Given the description of an element on the screen output the (x, y) to click on. 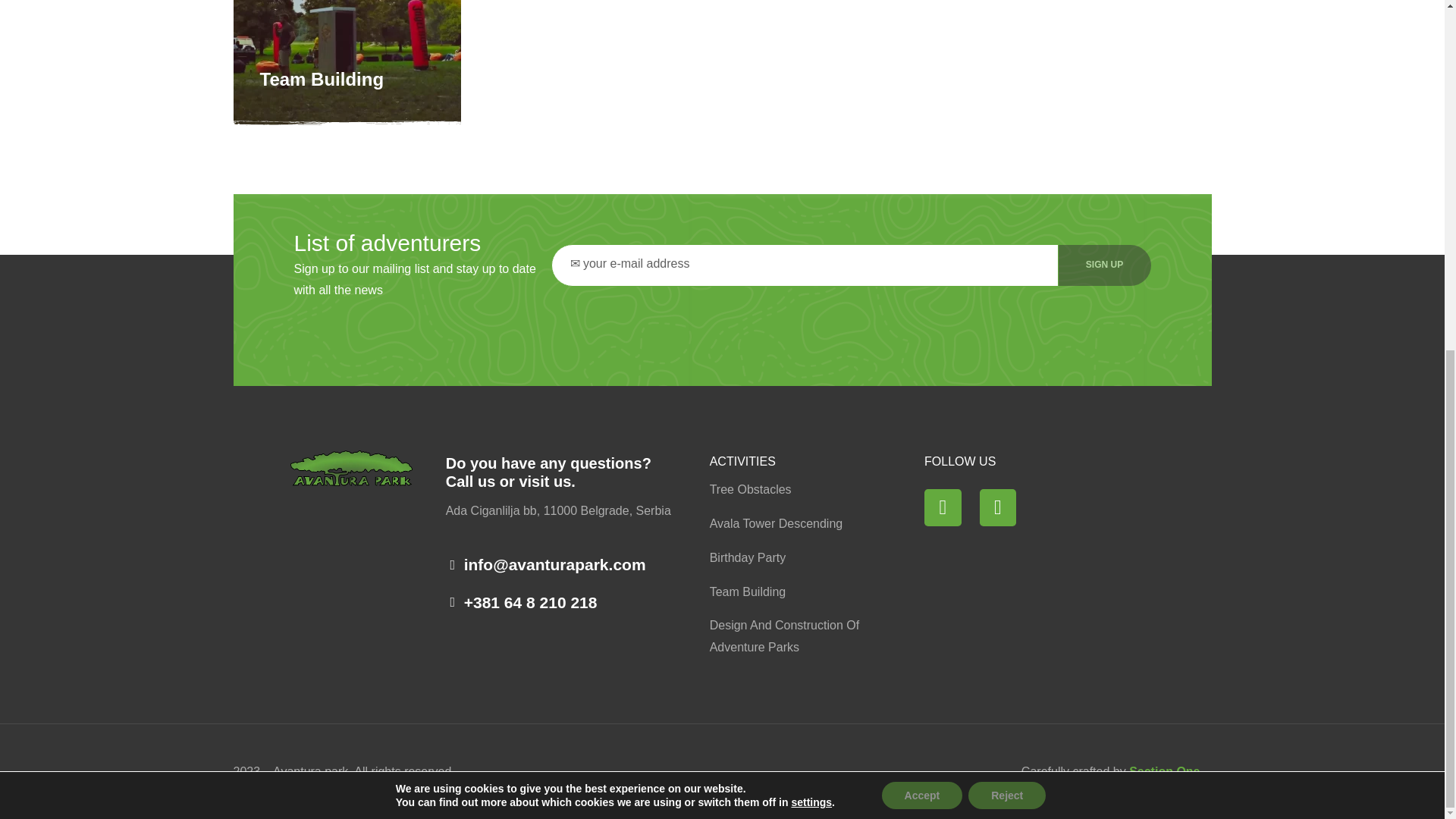
SIGN UP (1104, 264)
Team Building (796, 592)
Avala Tower Descending (796, 524)
Tree Obstacles (796, 490)
Design And Construction Of Adventure Parks (796, 637)
SIGN UP (1104, 264)
Birthday Party (796, 558)
Team Building (321, 78)
Section One (1164, 771)
